Given the description of an element on the screen output the (x, y) to click on. 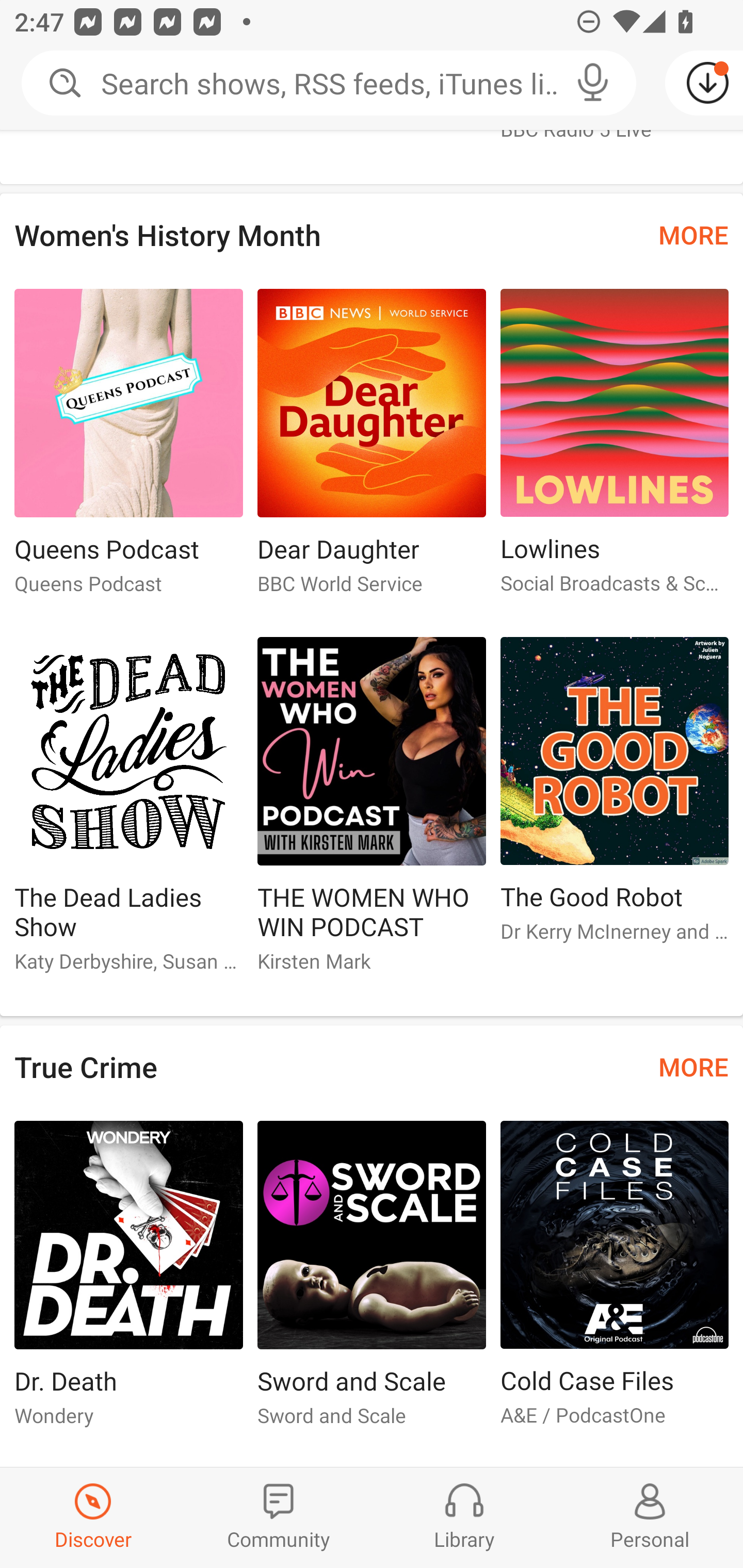
MORE (693, 234)
Queens Podcast Queens Podcast Queens Podcast (128, 449)
Dear Daughter Dear Daughter BBC World Service (371, 449)
MORE (693, 1065)
Dr. Death Dr. Death Wondery (128, 1281)
Sword and Scale Sword and Scale Sword and Scale (371, 1281)
Cold Case Files Cold Case Files A&E / PodcastOne (614, 1281)
Discover (92, 1517)
Community (278, 1517)
Library (464, 1517)
Profiles and Settings Personal (650, 1517)
